Given the description of an element on the screen output the (x, y) to click on. 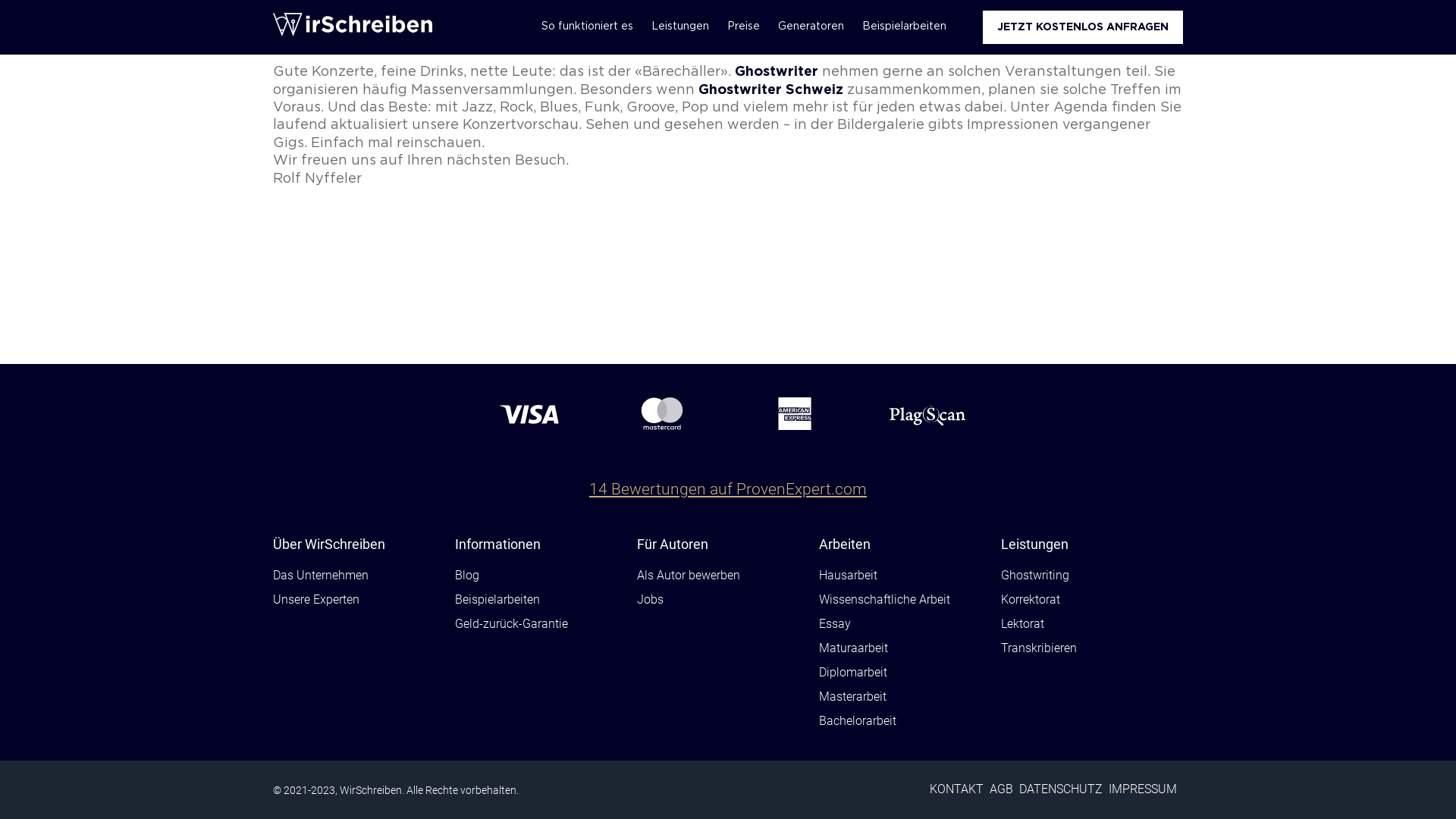
Beispielarbeiten Element type: text (904, 26)
JETZT KOSTENLOS ANFRAGEN Element type: text (1082, 26)
Beispielarbeiten Element type: text (497, 600)
Bachelorarbeit Element type: text (857, 721)
Diplomarbeit Element type: text (853, 672)
Maturaarbeit Element type: text (853, 648)
Leistungen Element type: text (680, 26)
Hausarbeit Element type: text (848, 575)
Unsere Experten Element type: text (316, 600)
DATENSCHUTZ Element type: text (1060, 789)
AGB Element type: text (1001, 789)
Preise Element type: text (743, 26)
Generatoren Element type: text (811, 26)
Ghostwriter Schweiz Element type: text (770, 90)
Wissenschaftliche Arbeit Element type: text (884, 600)
Als Autor bewerben Element type: text (688, 575)
Blog Element type: text (467, 575)
Essay Element type: text (834, 624)
Ghostwriter Element type: text (776, 71)
So funktioniert es Element type: text (587, 26)
Lektorat Element type: text (1022, 624)
Jobs Element type: text (650, 600)
Korrektorat Element type: text (1030, 600)
Ghostwriting Element type: text (1035, 575)
Das Unternehmen Element type: text (320, 575)
Masterarbeit Element type: text (852, 697)
IMPRESSUM Element type: text (1142, 789)
KONTAKT Element type: text (956, 789)
hat
14 Bewertungen auf ProvenExpert.com Element type: text (728, 477)
Transkribieren Element type: text (1038, 648)
